Given the description of an element on the screen output the (x, y) to click on. 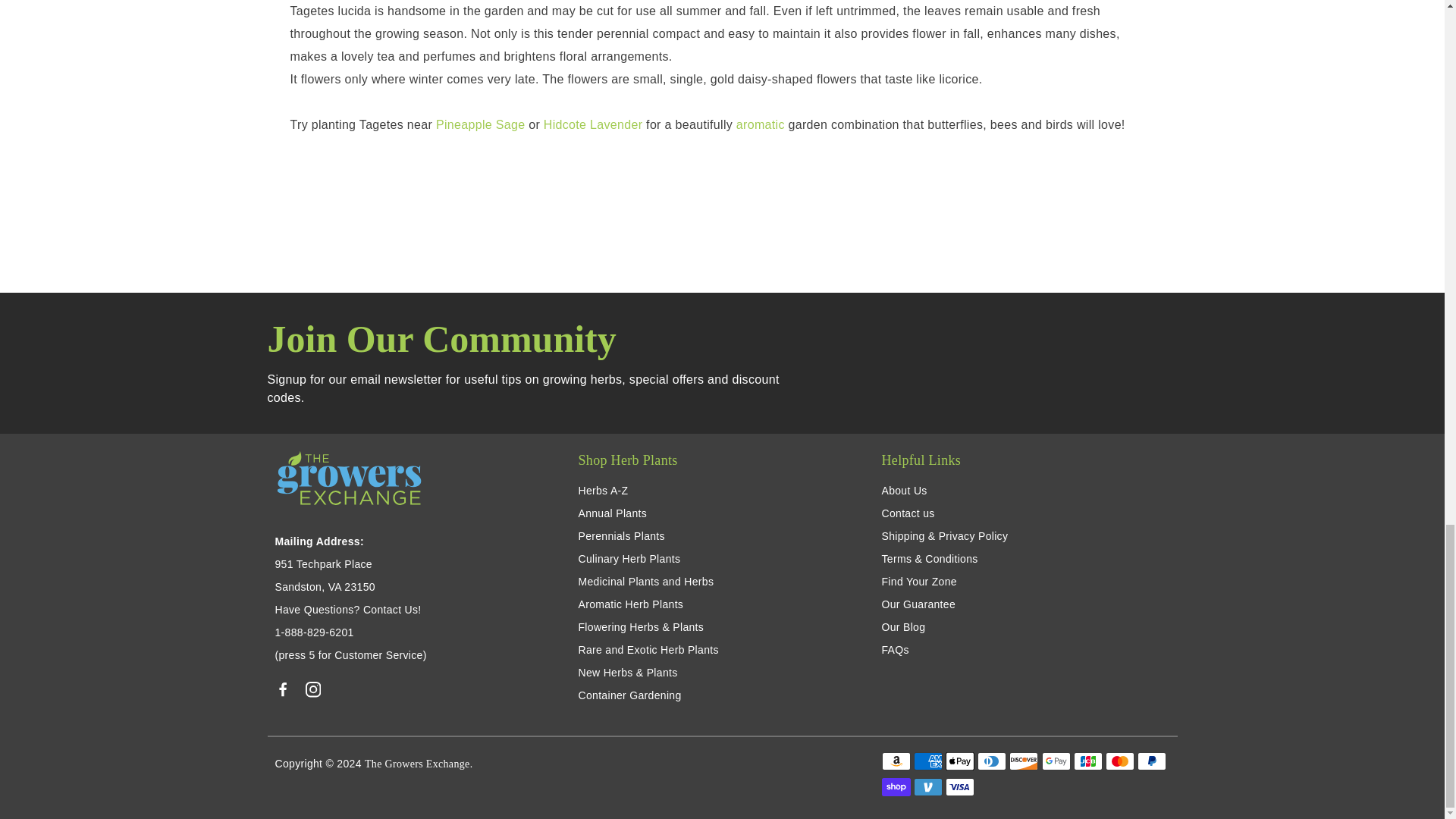
Amazon (895, 761)
Discover (1023, 761)
Mastercard (1119, 761)
PayPal (1151, 761)
JCB (1088, 761)
Google Pay (1056, 761)
American Express (928, 761)
Apple Pay (959, 761)
Diners Club (991, 761)
